Given the description of an element on the screen output the (x, y) to click on. 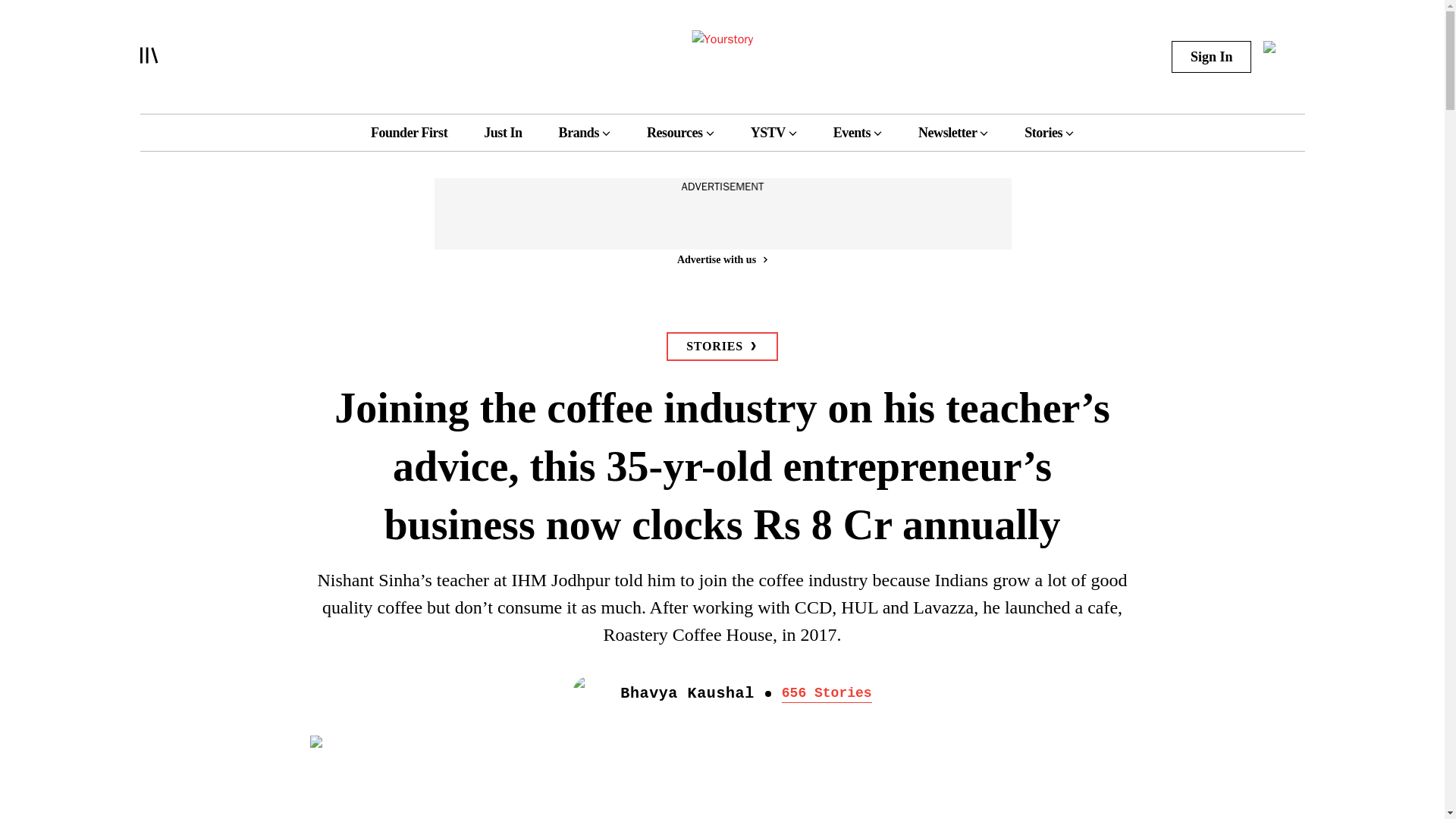
Advertise with us (721, 259)
Just In (502, 132)
Bhavya Kaushal (687, 693)
STORIES (721, 346)
Founder First (408, 132)
656 Stories (826, 692)
